Given the description of an element on the screen output the (x, y) to click on. 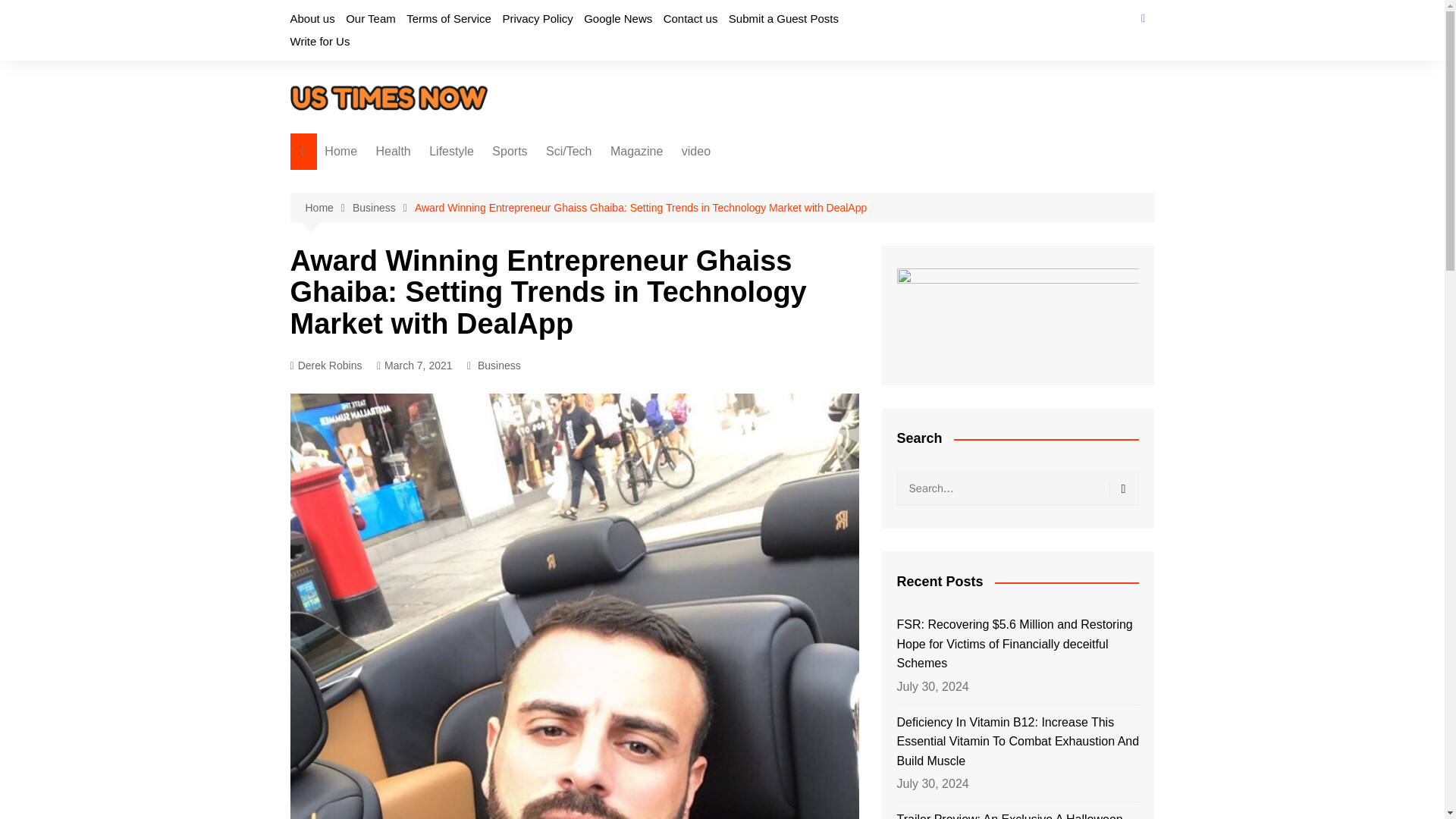
Facebook (1142, 18)
Contact us (690, 18)
Sports (509, 151)
Lifestyle (451, 151)
Privacy Policy (537, 18)
Submit a Guest Posts (783, 18)
Business (383, 208)
March 7, 2021 (414, 365)
Health (392, 151)
Terms of Service (449, 18)
About us (311, 18)
Write for Us (319, 41)
Derek Robins (325, 365)
Magazine (635, 151)
